Given the description of an element on the screen output the (x, y) to click on. 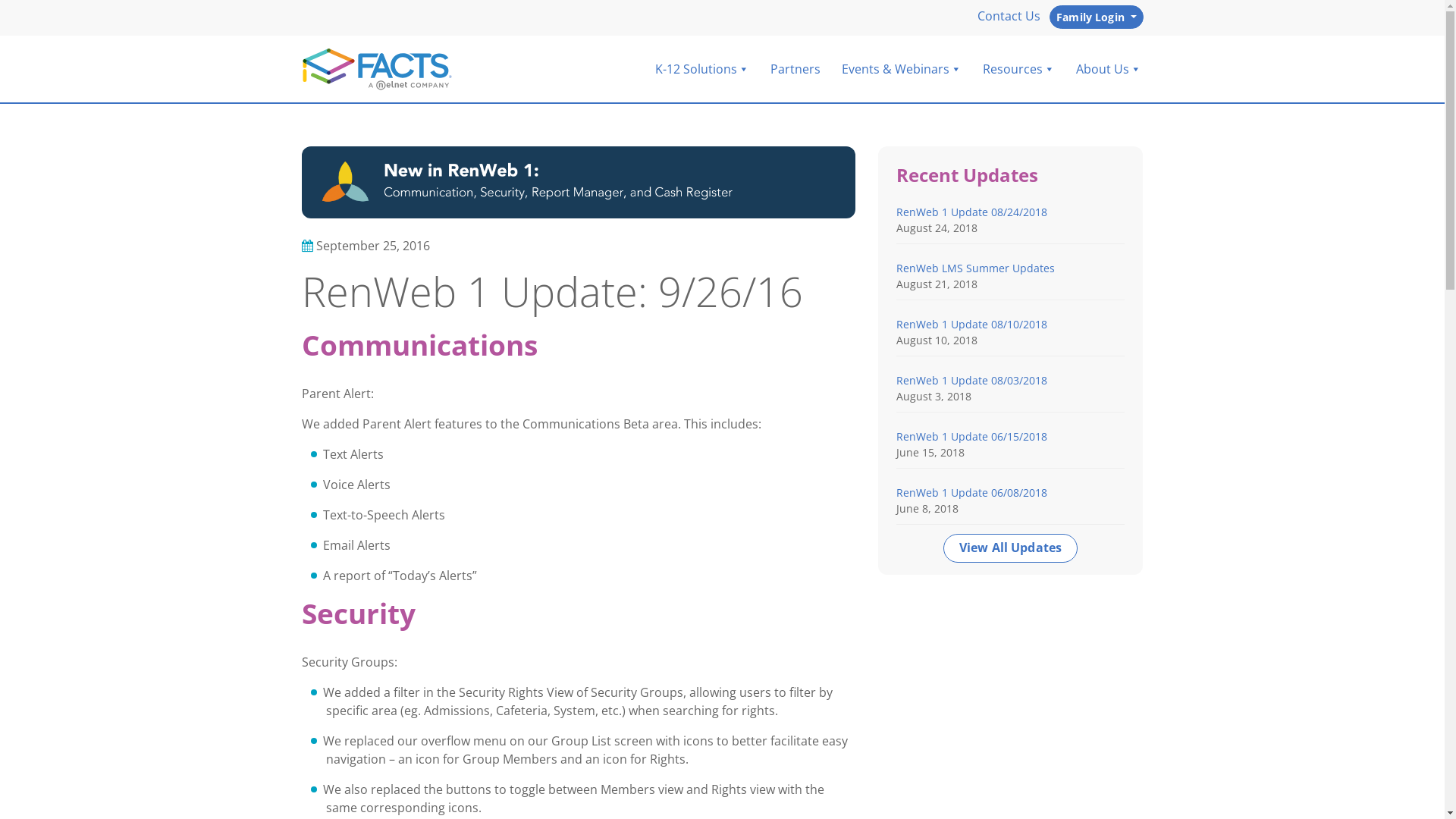
Resources Element type: text (1018, 68)
Partners Element type: text (795, 68)
Family Login Element type: text (1095, 16)
K-12 Solutions Element type: text (701, 68)
Events & Webinars Element type: text (901, 68)
RenWeb 1 Update 08/10/2018 Element type: text (971, 323)
RenWeb 1 Update 06/08/2018 Element type: text (971, 492)
View All Updates Element type: text (1010, 547)
RenWeb 1 Update 06/15/2018 Element type: text (971, 436)
RenWeb 1 Update 08/03/2018 Element type: text (971, 380)
RenWeb LMS Summer Updates Element type: text (975, 267)
RenWeb 1 Update 08/24/2018 Element type: text (971, 211)
Contact Us Element type: text (1008, 15)
About Us Element type: text (1107, 68)
